Given the description of an element on the screen output the (x, y) to click on. 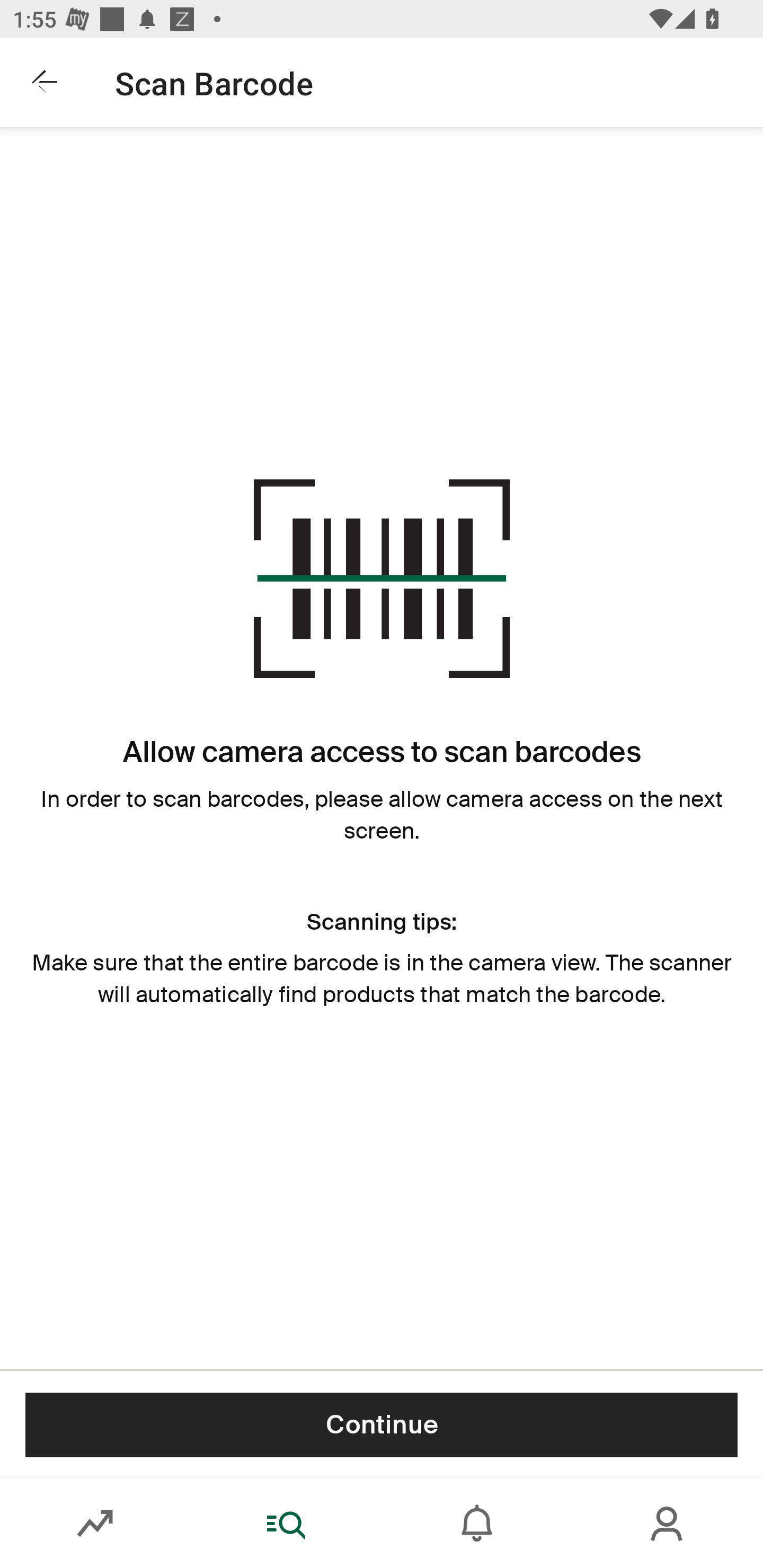
Search by brand, color, etc. (316, 82)
Continue (381, 1424)
Market (95, 1523)
Inbox (476, 1523)
Account (667, 1523)
